Given the description of an element on the screen output the (x, y) to click on. 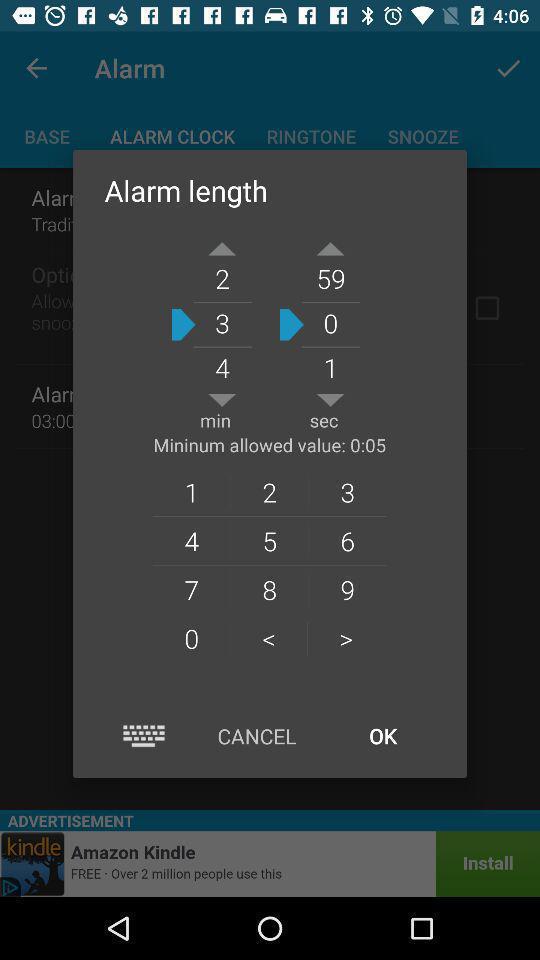
open item next to the 2 item (347, 540)
